Given the description of an element on the screen output the (x, y) to click on. 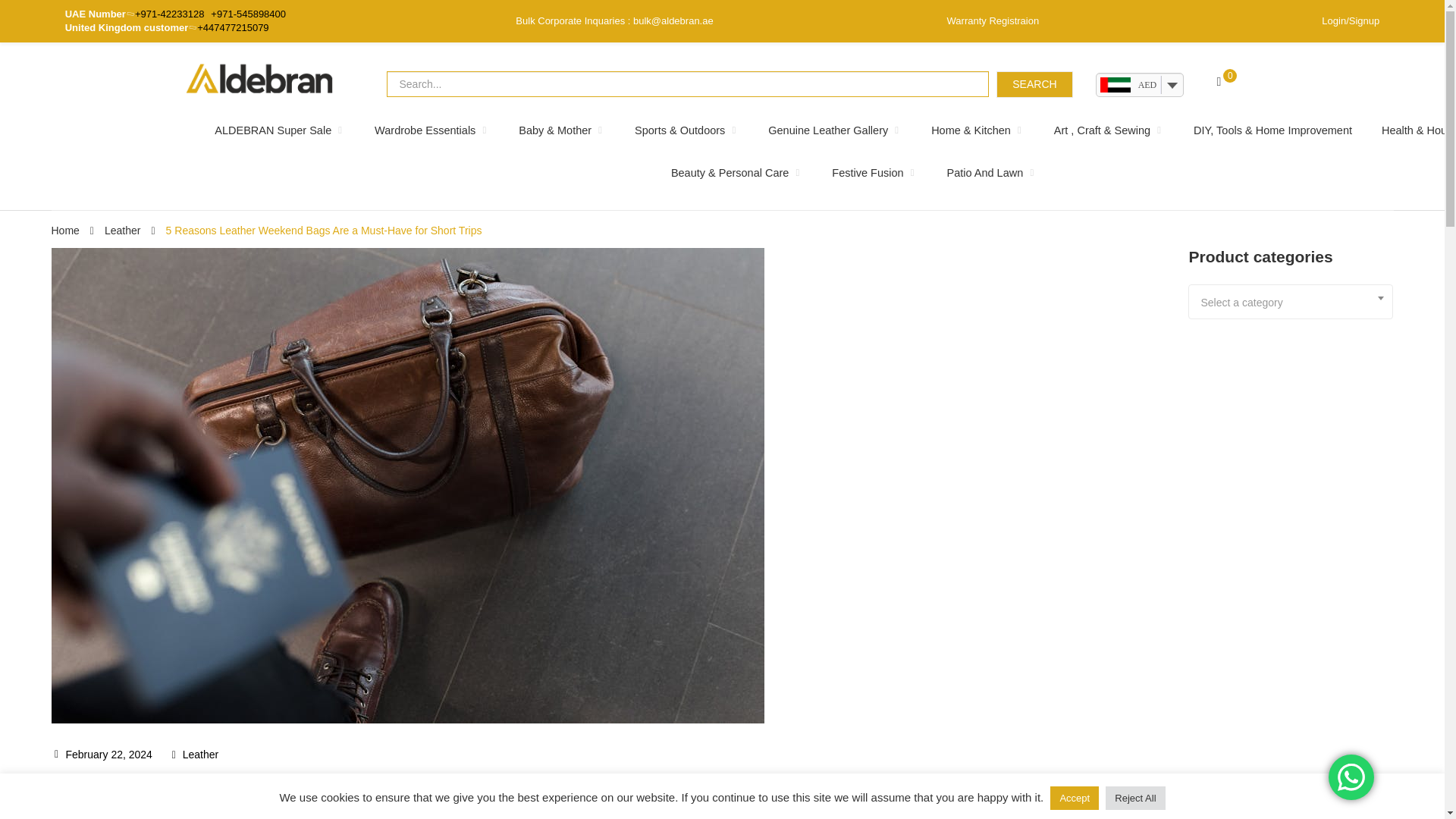
Leather (121, 230)
ALDEBRAN Super Sale (279, 129)
Search (1033, 84)
Home (65, 230)
Wardrobe Essentials (431, 129)
Search (1033, 84)
0 (1223, 81)
Aldebran (258, 78)
